Given the description of an element on the screen output the (x, y) to click on. 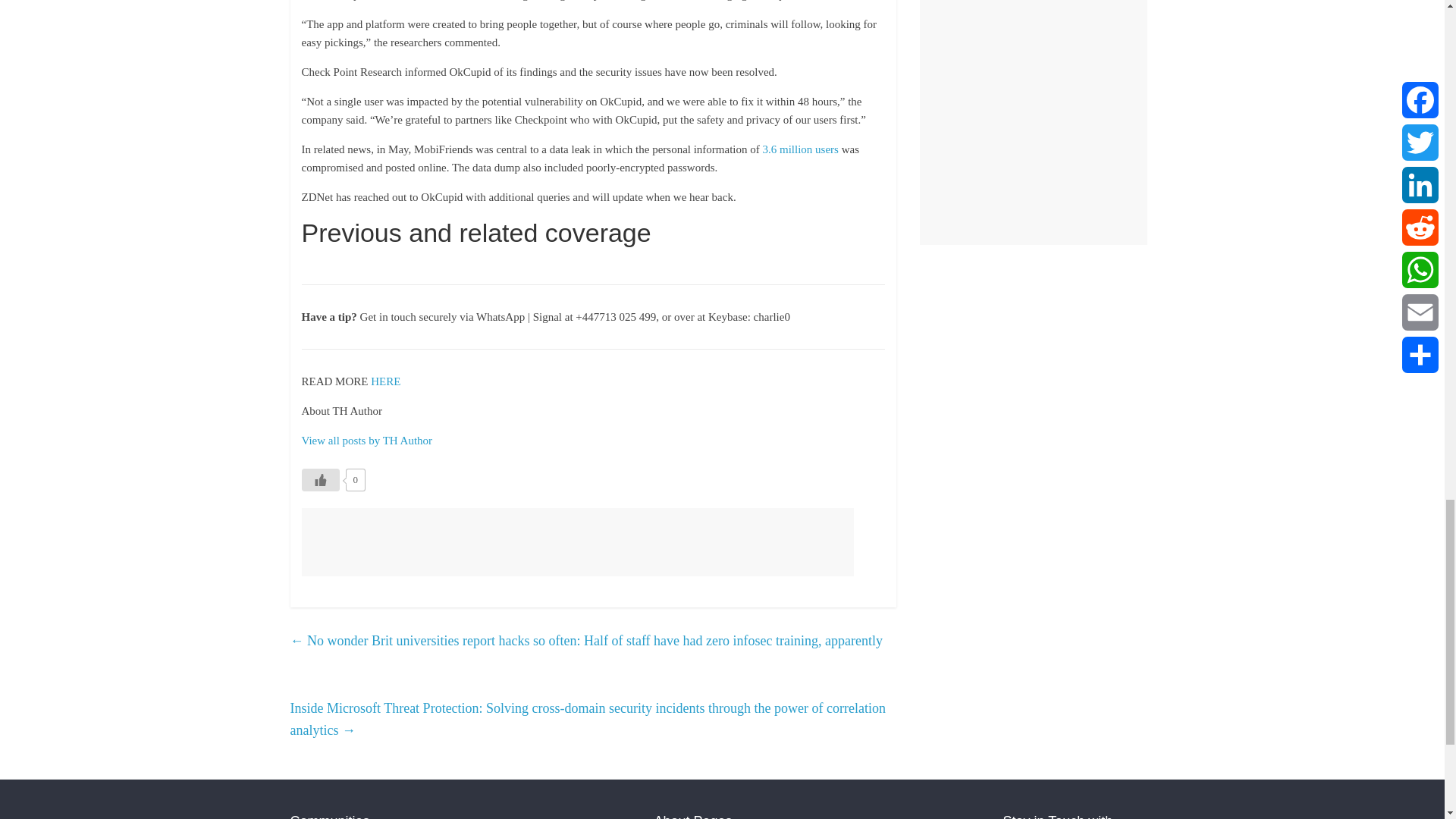
View all posts by TH Author (366, 440)
HERE (385, 381)
3.6 million users (800, 149)
